Given the description of an element on the screen output the (x, y) to click on. 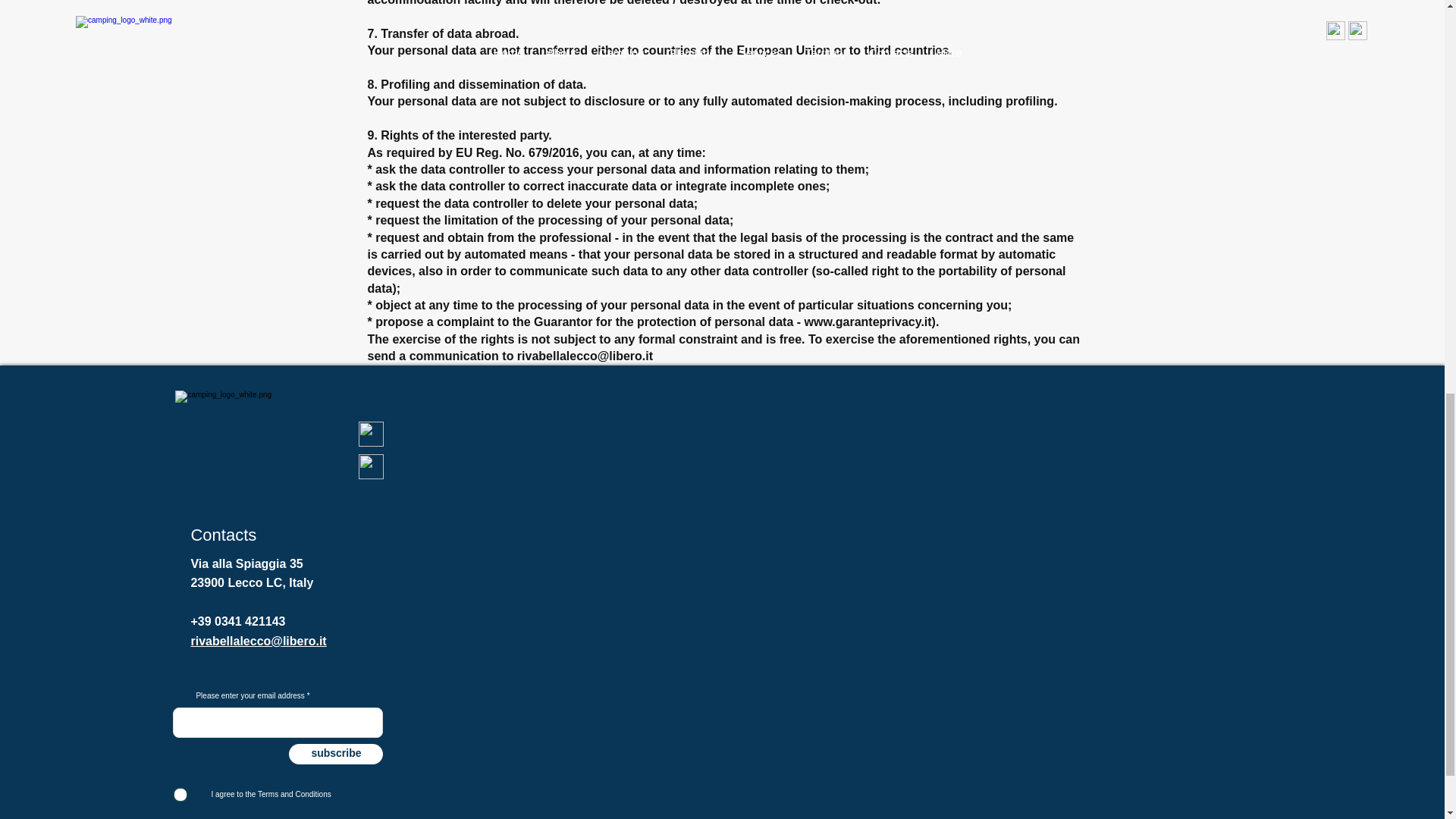
subscribe (335, 753)
www.garanteprivacy.it (868, 321)
